Given the description of an element on the screen output the (x, y) to click on. 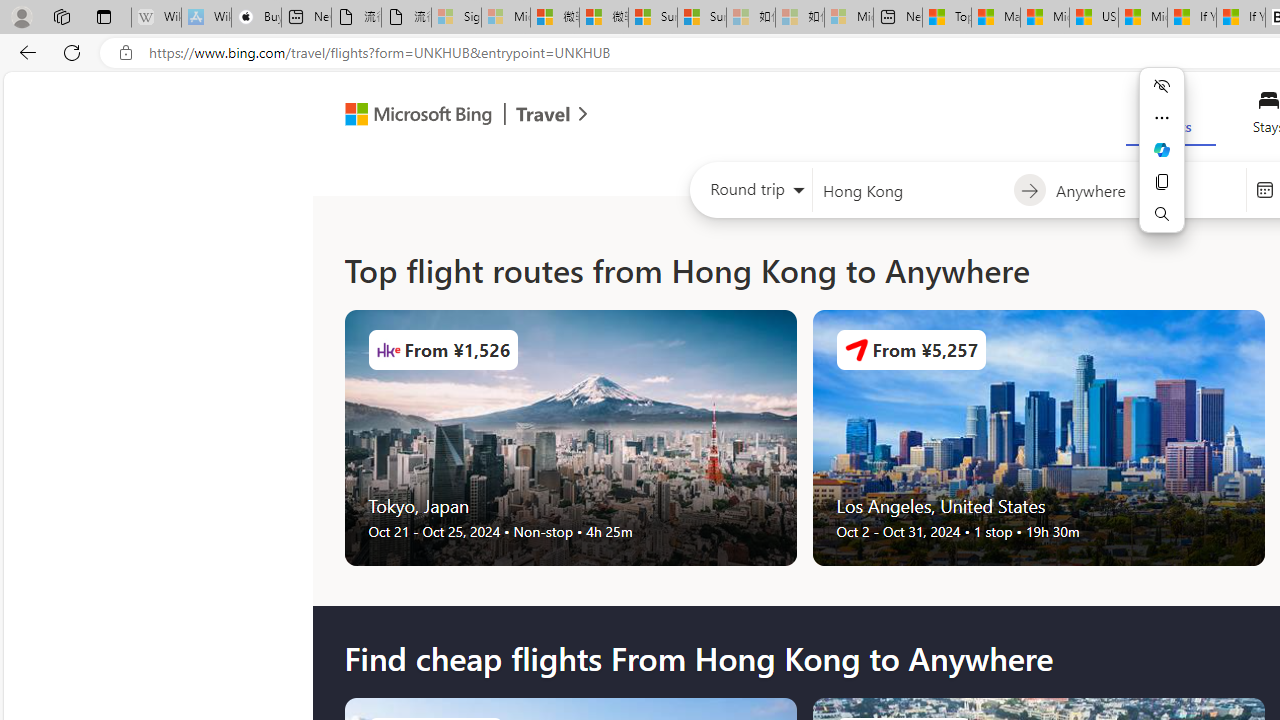
Class: msft-travel-logo (543, 114)
Microsoft Bing (410, 116)
US Heat Deaths Soared To Record High Last Year (1093, 17)
Microsoft Bing Travel (445, 116)
Flights (1170, 116)
Buy iPad - Apple (256, 17)
Microsoft Services Agreement - Sleeping (505, 17)
Mini menu on text selection (1162, 161)
Class: msft-bing-logo msft-bing-logo-desktop (413, 114)
